Given the description of an element on the screen output the (x, y) to click on. 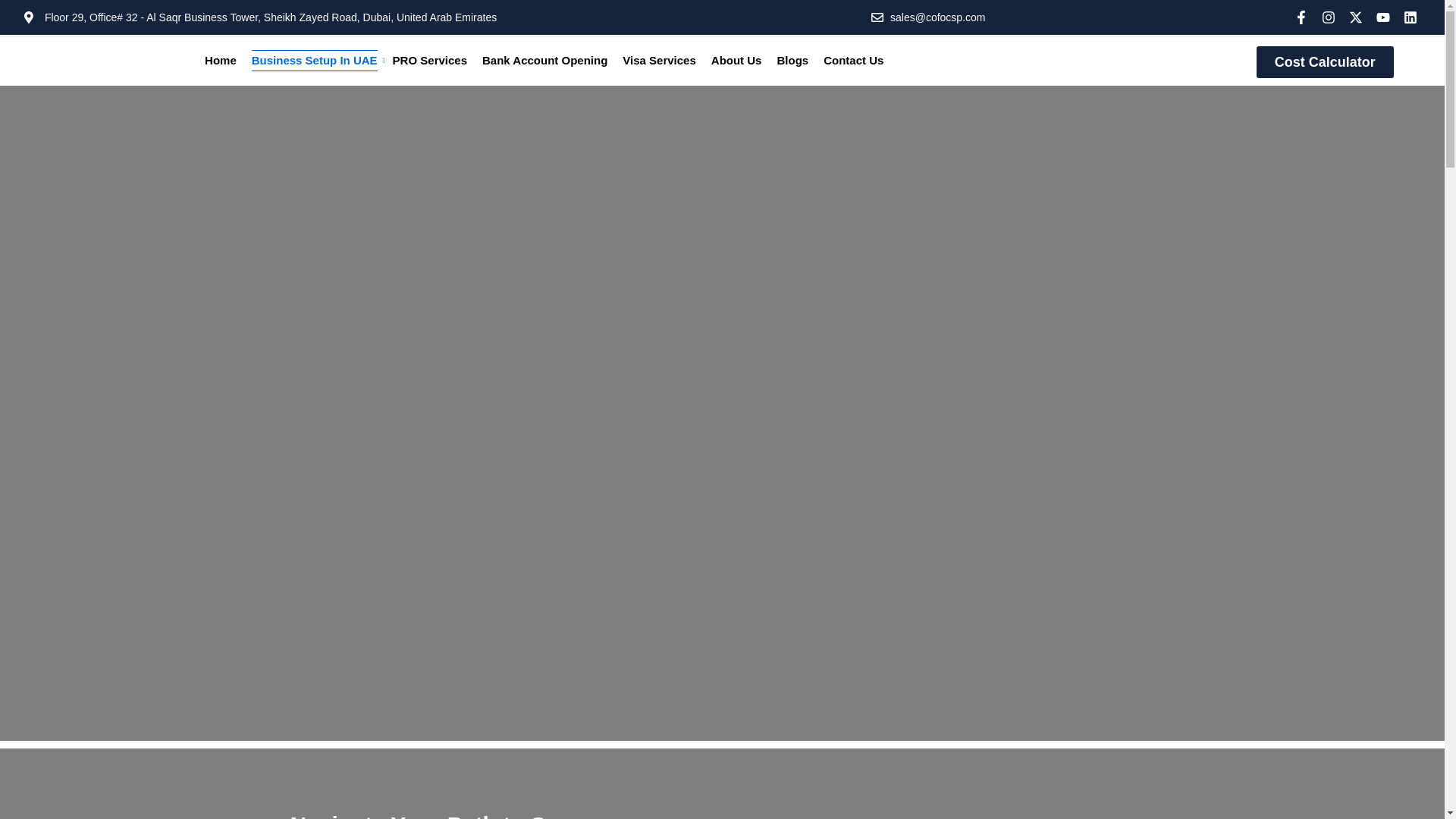
PRO Services (429, 60)
About Us (736, 60)
Linkedin (1409, 17)
Business Setup In UAE (314, 60)
Youtube (1382, 17)
Blogs (792, 60)
Contact Us (852, 60)
Home (220, 60)
Cost Calculator (1324, 61)
Instagram (1328, 17)
